Given the description of an element on the screen output the (x, y) to click on. 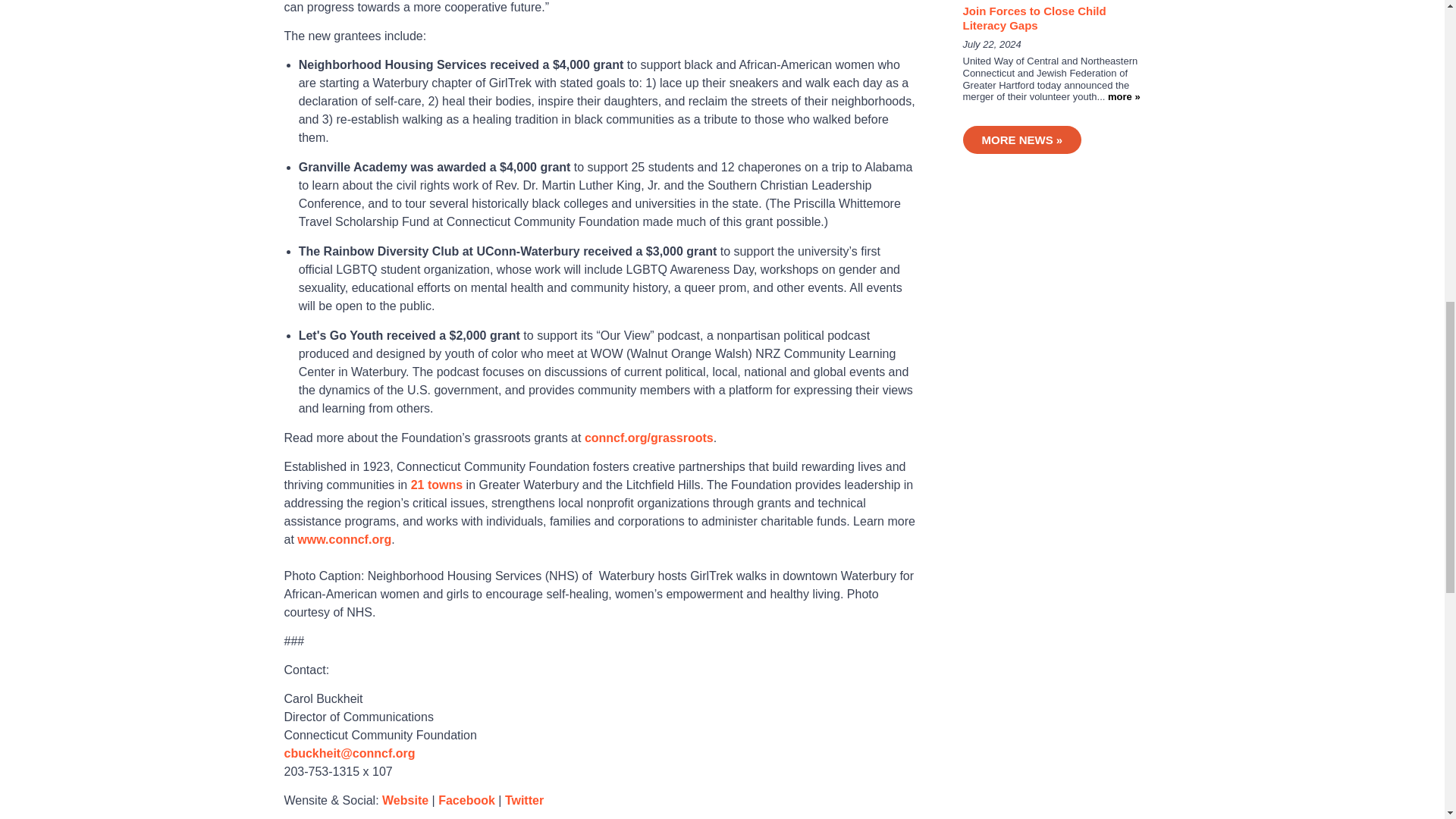
www.conncf.org (344, 539)
Website (404, 799)
Twitter (524, 799)
Facebook (466, 799)
21 towns (436, 484)
